Given the description of an element on the screen output the (x, y) to click on. 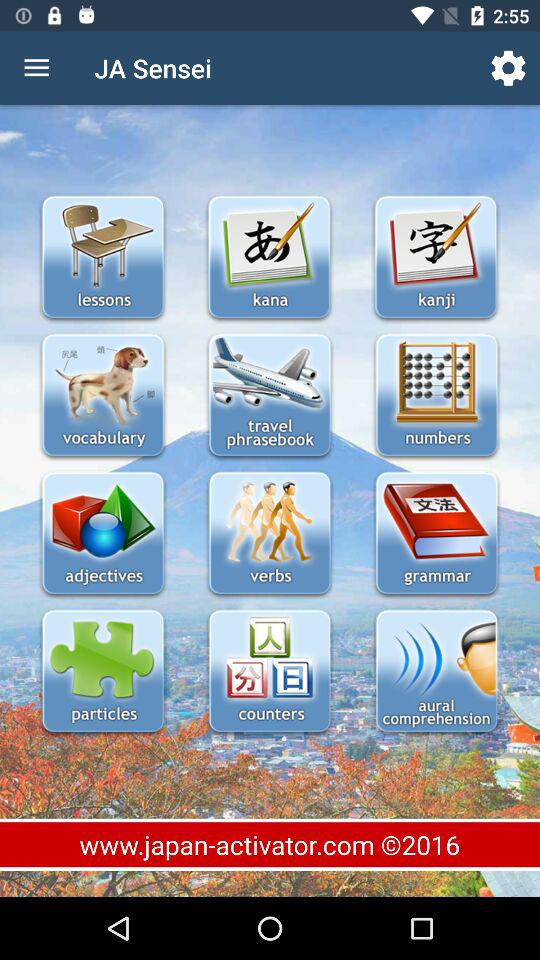
kanji directory (435, 258)
